Given the description of an element on the screen output the (x, y) to click on. 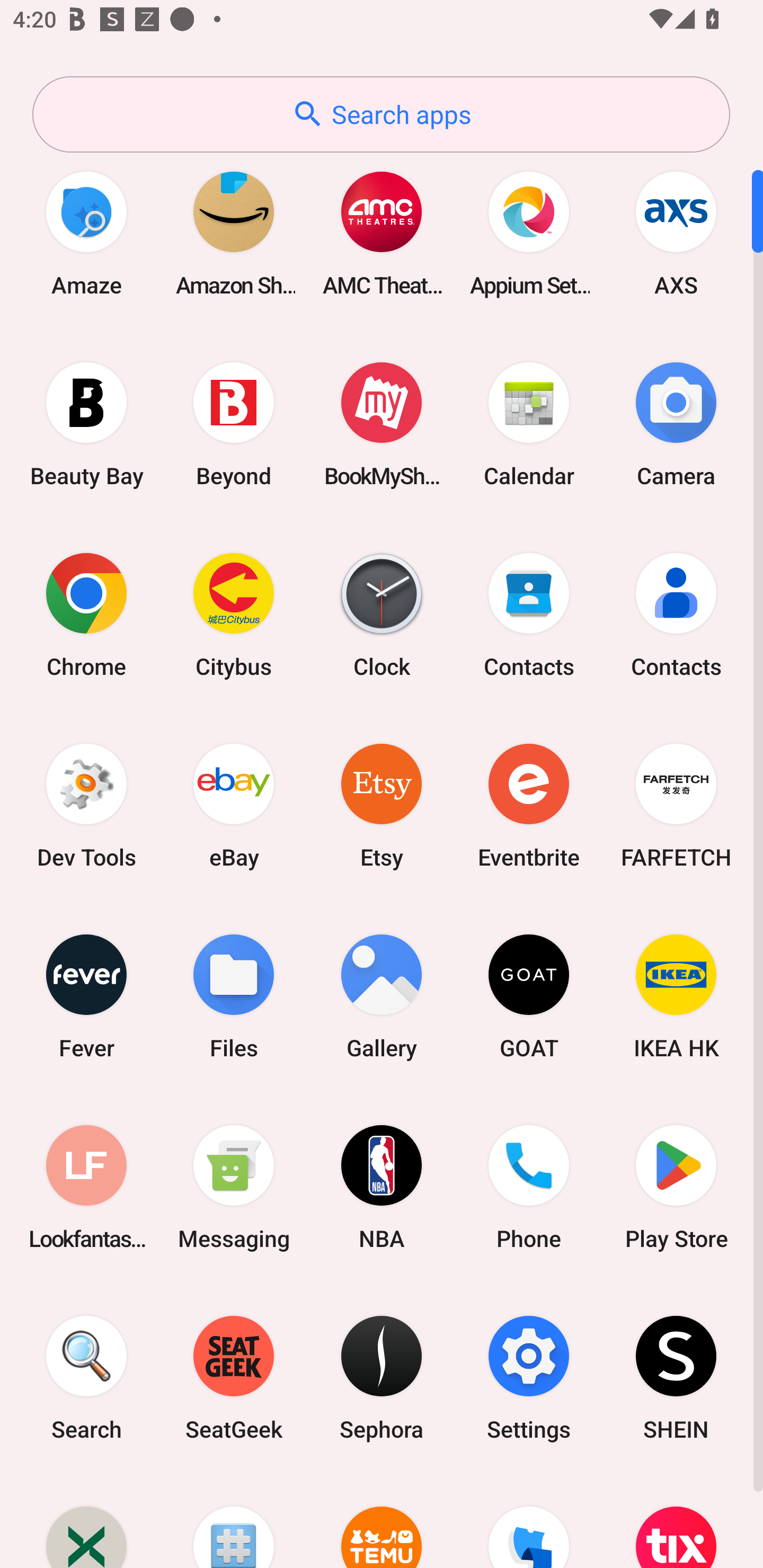
  Search apps (381, 114)
Amaze (86, 233)
Amazon Shopping (233, 233)
AMC Theatres (381, 233)
Appium Settings (528, 233)
AXS (676, 233)
Beauty Bay (86, 424)
Beyond (233, 424)
BookMyShow (381, 424)
Calendar (528, 424)
Camera (676, 424)
Chrome (86, 614)
Citybus (233, 614)
Clock (381, 614)
Contacts (528, 614)
Contacts (676, 614)
Dev Tools (86, 805)
eBay (233, 805)
Etsy (381, 805)
Eventbrite (528, 805)
FARFETCH (676, 805)
Fever (86, 996)
Files (233, 996)
Gallery (381, 996)
GOAT (528, 996)
IKEA HK (676, 996)
Lookfantastic (86, 1186)
Messaging (233, 1186)
NBA (381, 1186)
Phone (528, 1186)
Play Store (676, 1186)
Search (86, 1377)
SeatGeek (233, 1377)
Sephora (381, 1377)
Settings (528, 1377)
SHEIN (676, 1377)
StockX (86, 1520)
Superuser (233, 1520)
Temu (381, 1520)
TickPick (528, 1520)
TodayTix (676, 1520)
